Given the description of an element on the screen output the (x, y) to click on. 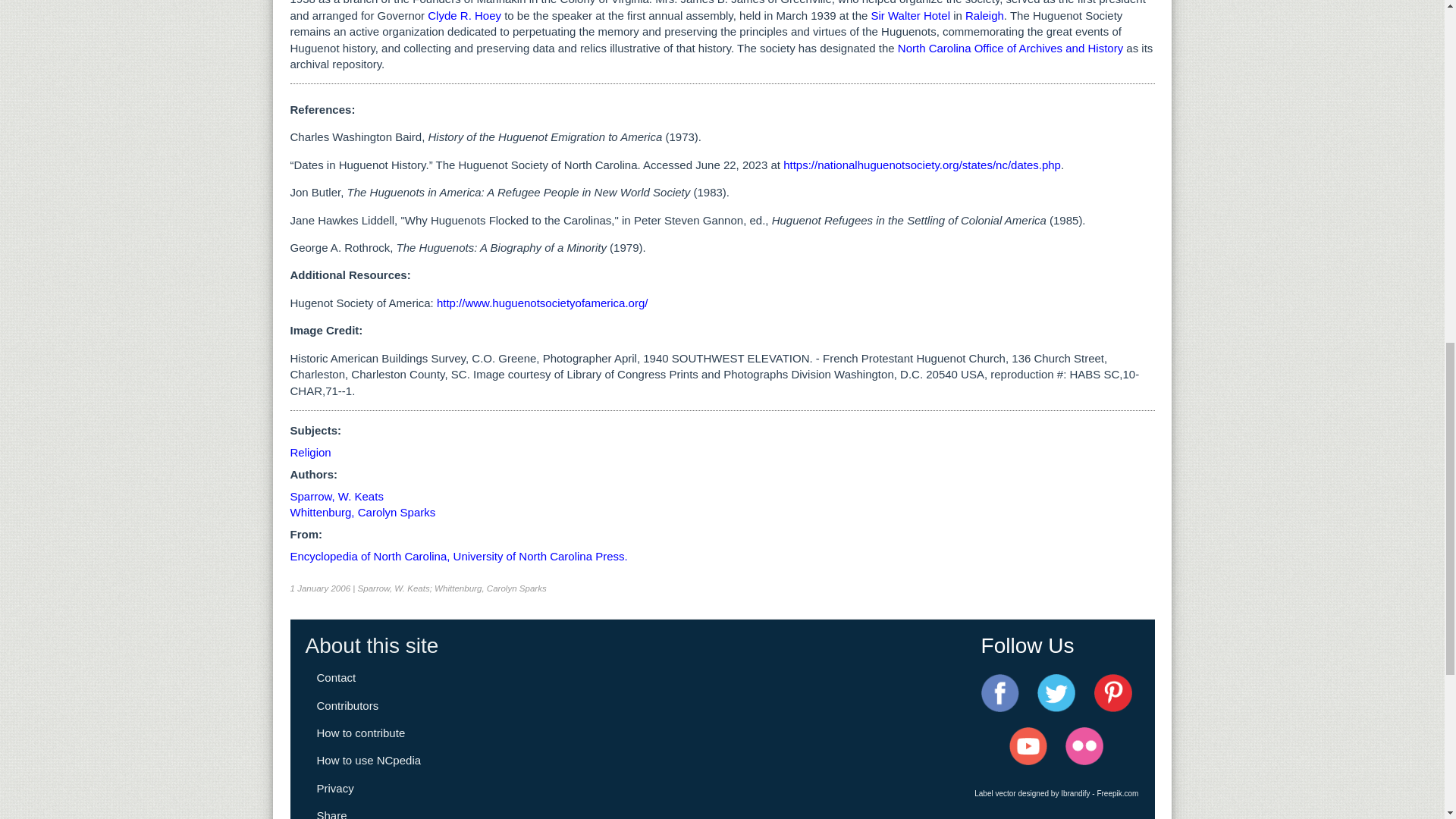
Raleigh (984, 15)
North Carolina Office of Archives and History (1010, 47)
About this site (371, 645)
Whittenburg, Carolyn Sparks (362, 512)
Clyde R. Hoey (464, 15)
Contributors (347, 705)
Sir Walter Hotel (909, 15)
Sparrow, W. Keats (335, 495)
Religion (309, 451)
Contact (336, 676)
